Given the description of an element on the screen output the (x, y) to click on. 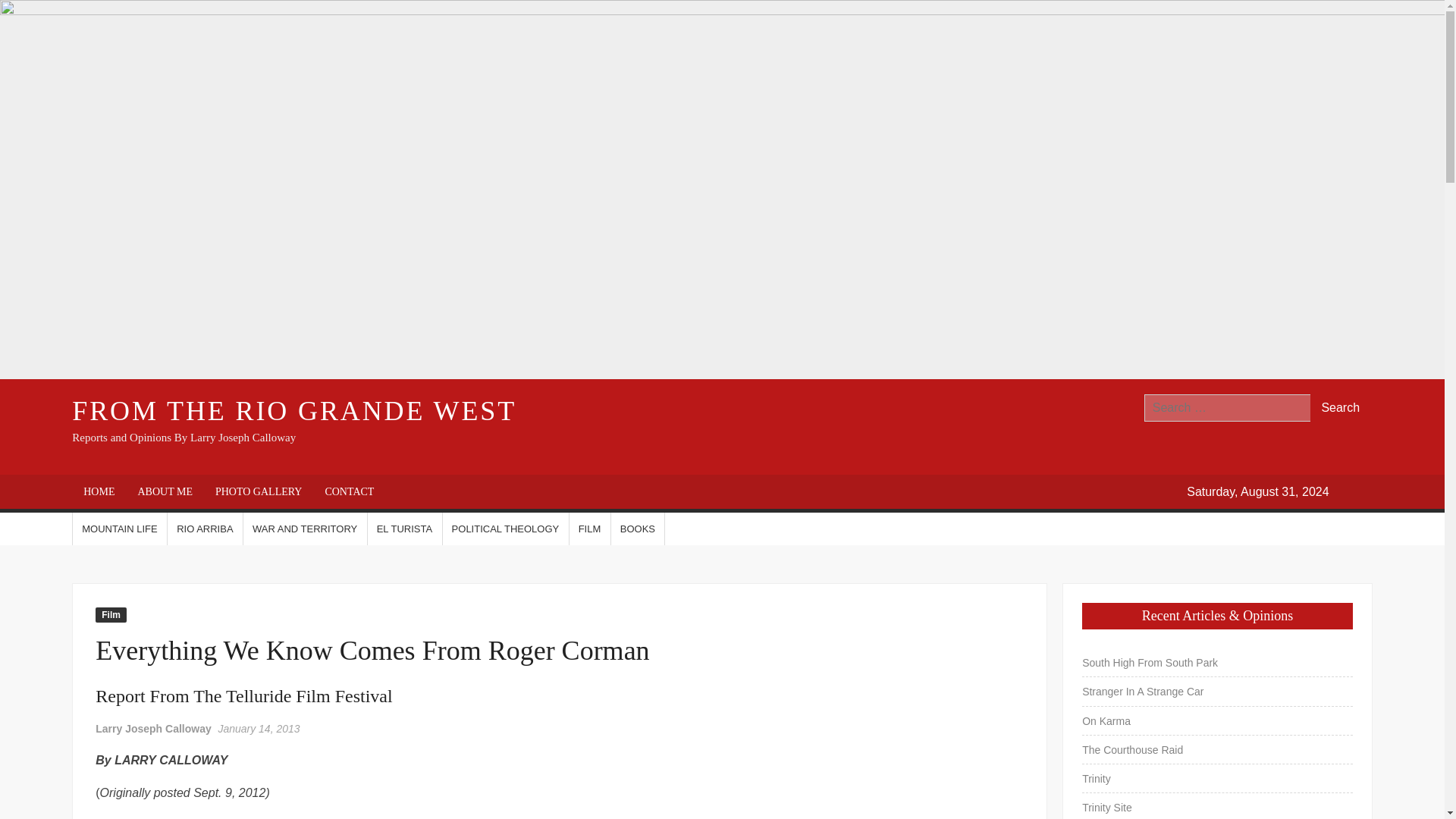
Search (1340, 407)
EL TURISTA (404, 528)
HOME (98, 491)
PHOTO GALLERY (258, 491)
FROM THE RIO GRANDE WEST (293, 410)
BOOKS (637, 528)
RIO ARRIBA (204, 528)
ABOUT ME (164, 491)
WAR AND TERRITORY (304, 528)
CONTACT (349, 491)
